Given the description of an element on the screen output the (x, y) to click on. 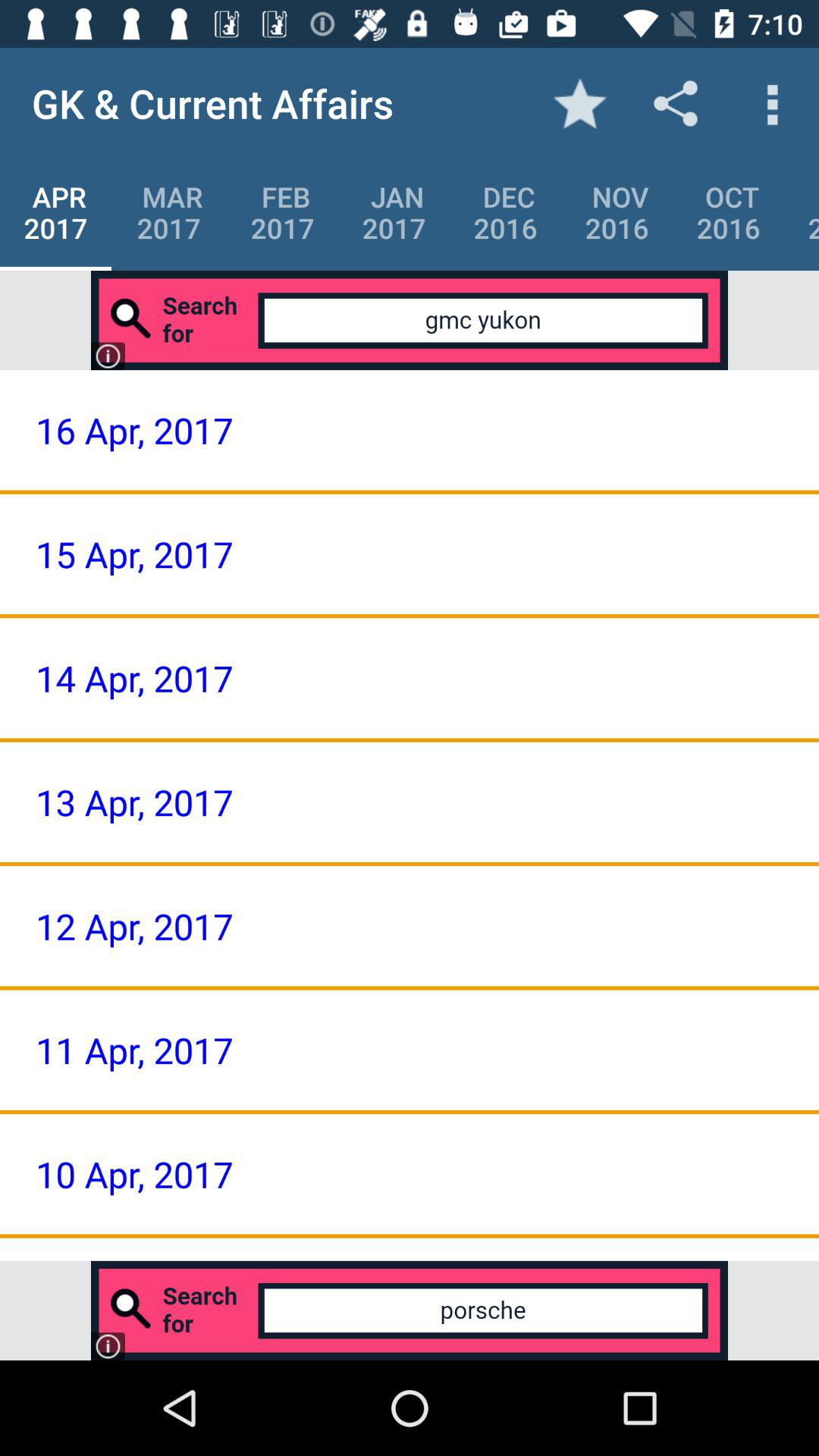
scroll until oct
2016 icon (728, 212)
